Given the description of an element on the screen output the (x, y) to click on. 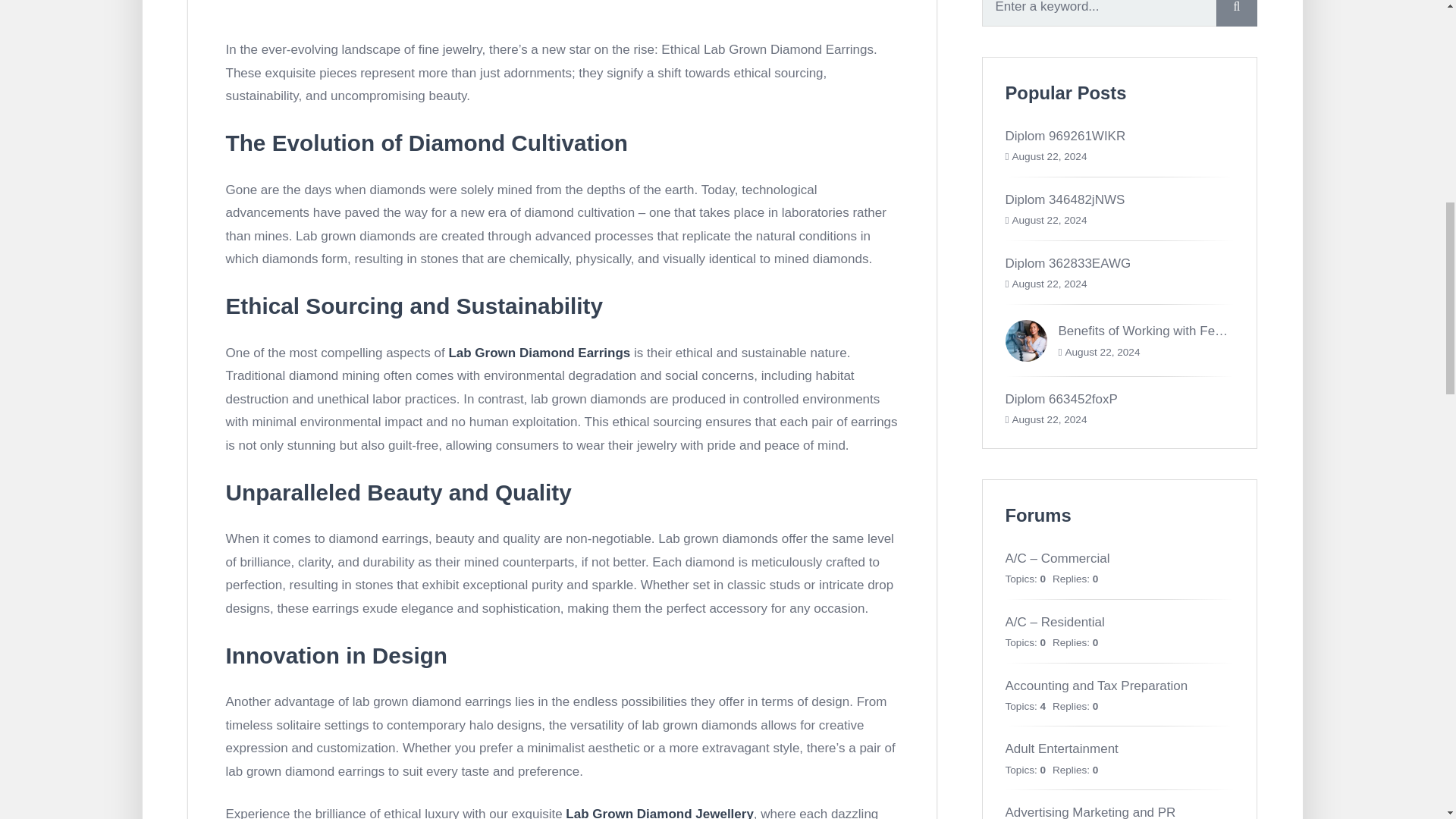
Lab Grown Diamond Jewellery (660, 812)
Adult Entertainment (1062, 748)
August 22, 2024 (1048, 283)
Benefits of Working with Female Influencer Marketing Agency (1233, 330)
Diplom 663452foxP (1062, 399)
August 22, 2024 (1102, 351)
Diplom 346482jNWS (1065, 199)
August 22, 2024 (1048, 156)
Diplom 969261WIKR (1065, 135)
Diplom 362833EAWG (1068, 263)
